Given the description of an element on the screen output the (x, y) to click on. 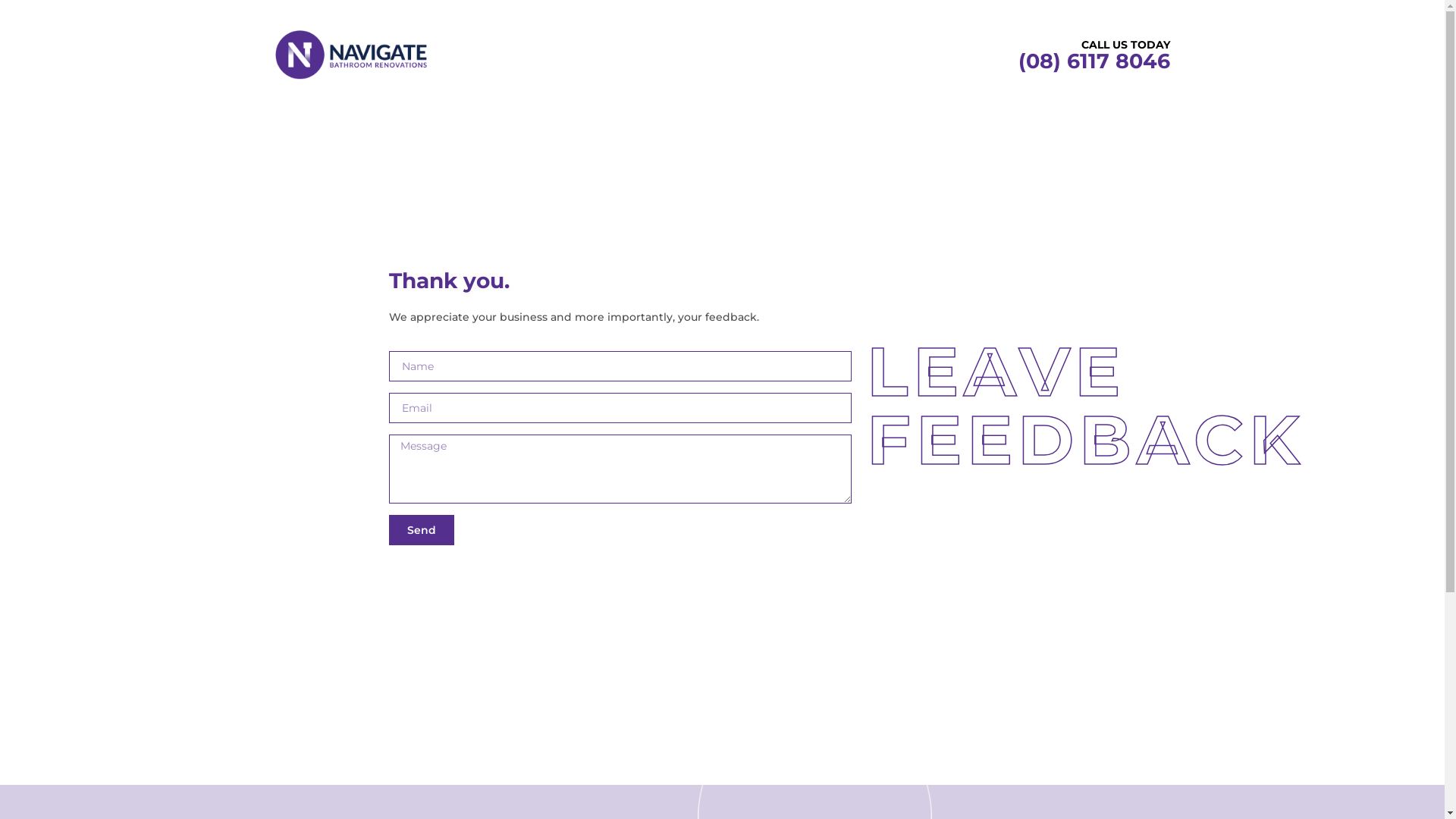
Send Element type: text (420, 529)
CALL US TODAY Element type: text (1125, 44)
(08) 6117 8046 Element type: text (1093, 60)
